Given the description of an element on the screen output the (x, y) to click on. 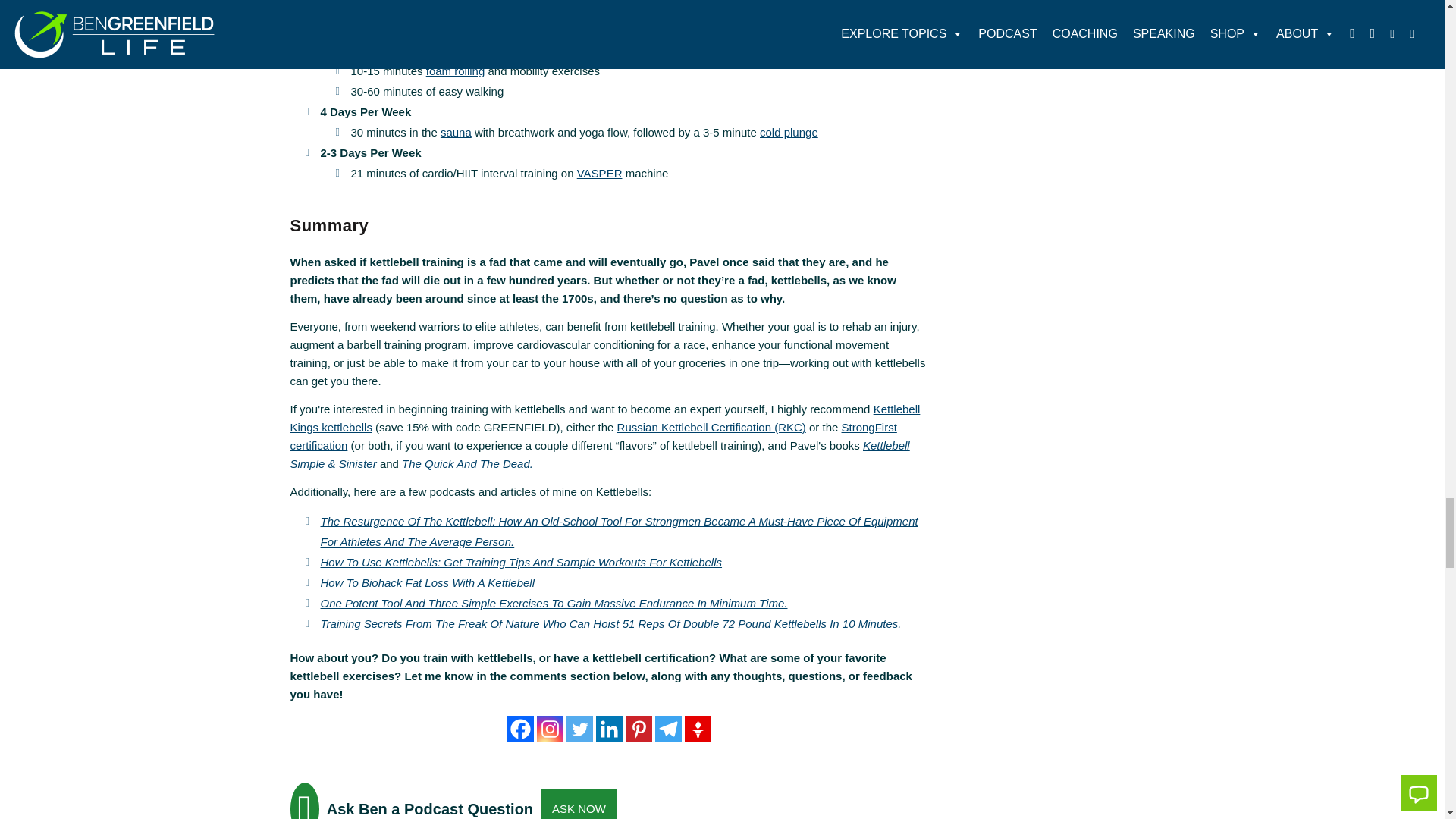
Gettr (697, 728)
Instagram (550, 728)
Twitter (579, 728)
Telegram (668, 728)
Pinterest (639, 728)
Facebook (520, 728)
Linkedin (609, 728)
